Given the description of an element on the screen output the (x, y) to click on. 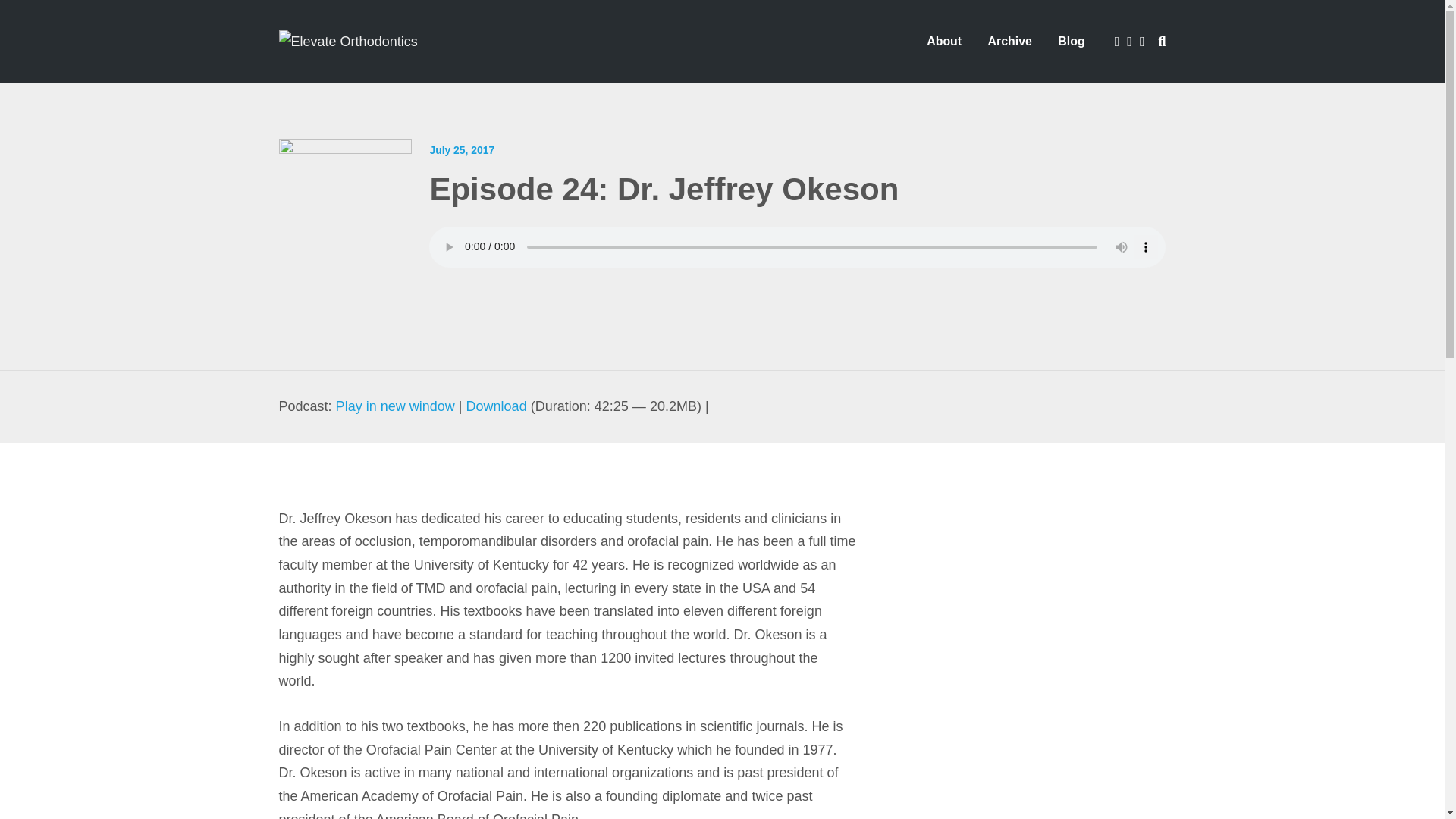
Download (496, 406)
Play in new window (395, 406)
Download (496, 406)
Play in new window (395, 406)
